Given the description of an element on the screen output the (x, y) to click on. 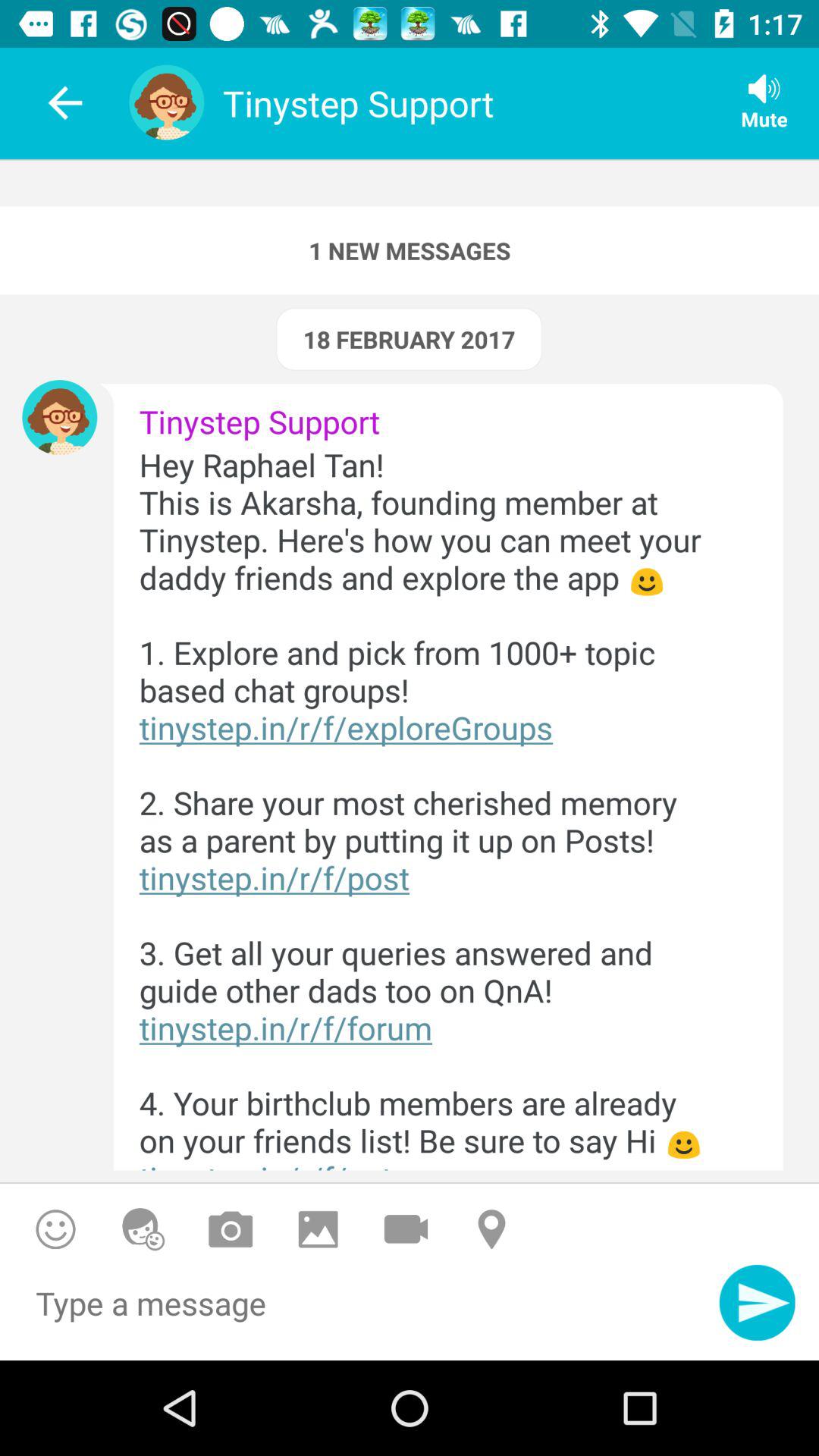
record (405, 1229)
